Given the description of an element on the screen output the (x, y) to click on. 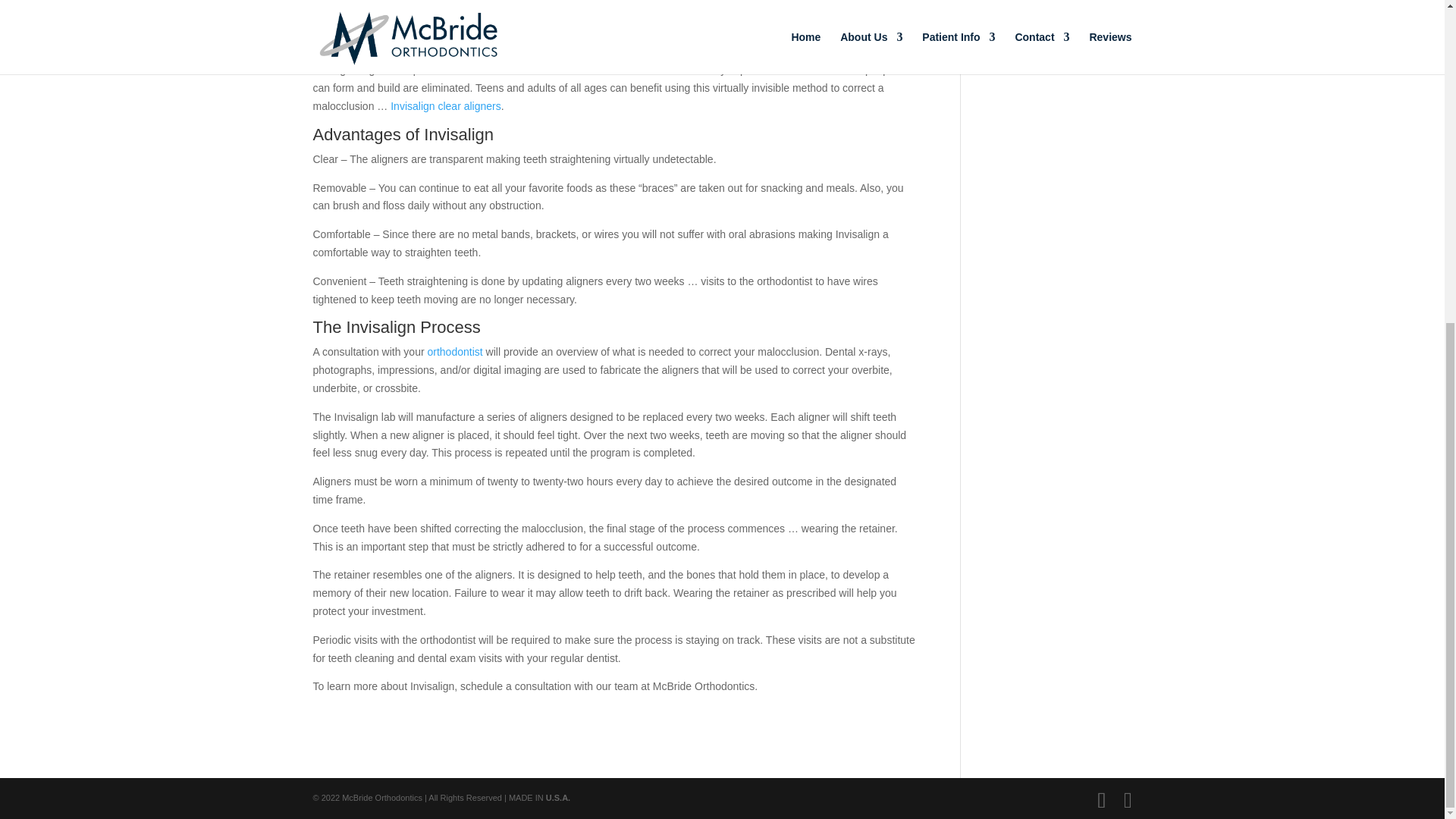
orthodontist (453, 351)
U.S.A. (558, 797)
Invisalign clear aligners (445, 105)
